Given the description of an element on the screen output the (x, y) to click on. 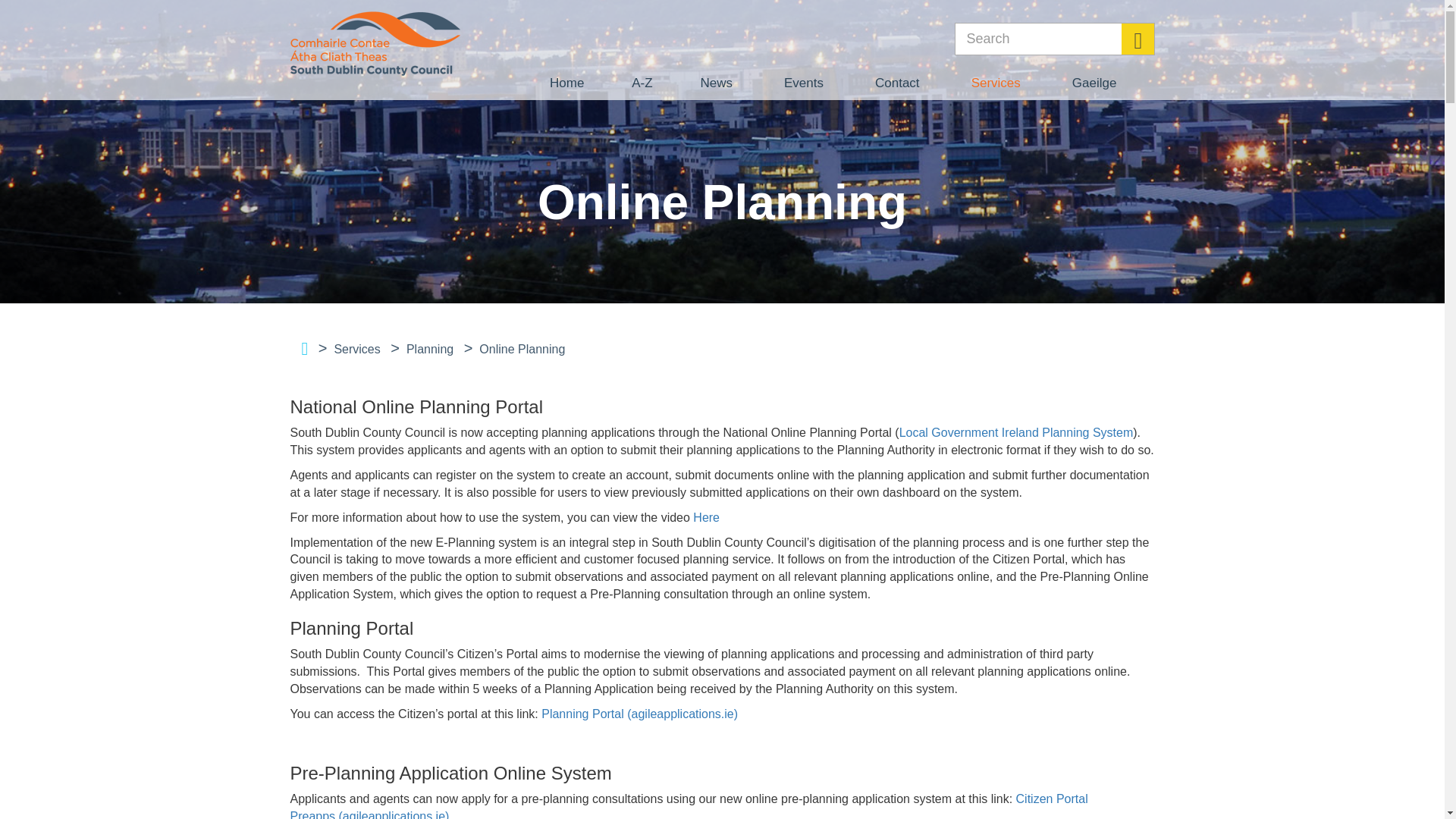
News (716, 82)
A-Z (642, 82)
Home (567, 82)
Search (1137, 38)
Search (1054, 38)
Services (995, 82)
Events (803, 82)
Contact (896, 82)
